Given the description of an element on the screen output the (x, y) to click on. 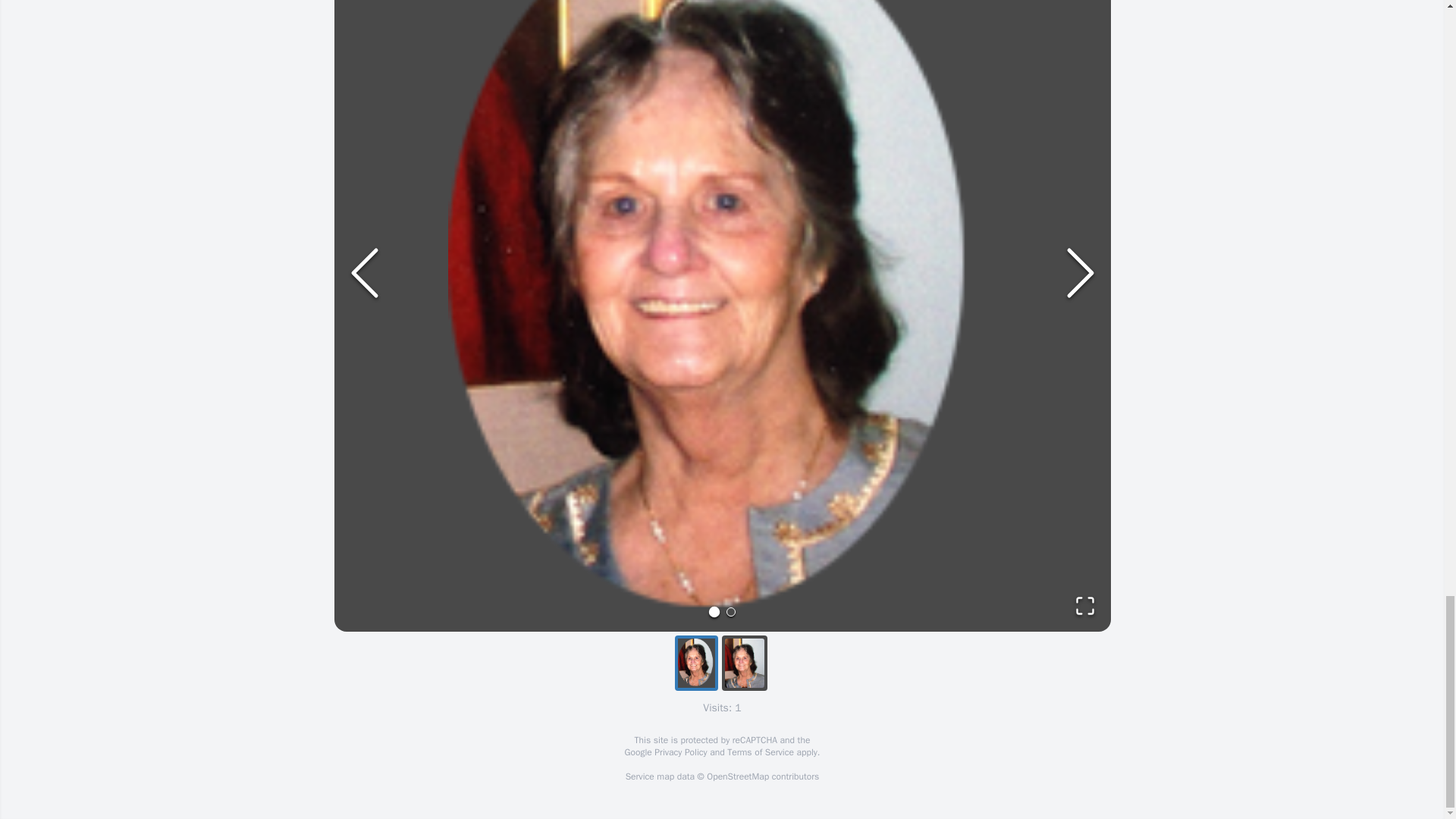
Privacy Policy (679, 752)
OpenStreetMap (737, 776)
Terms of Service (759, 752)
